Given the description of an element on the screen output the (x, y) to click on. 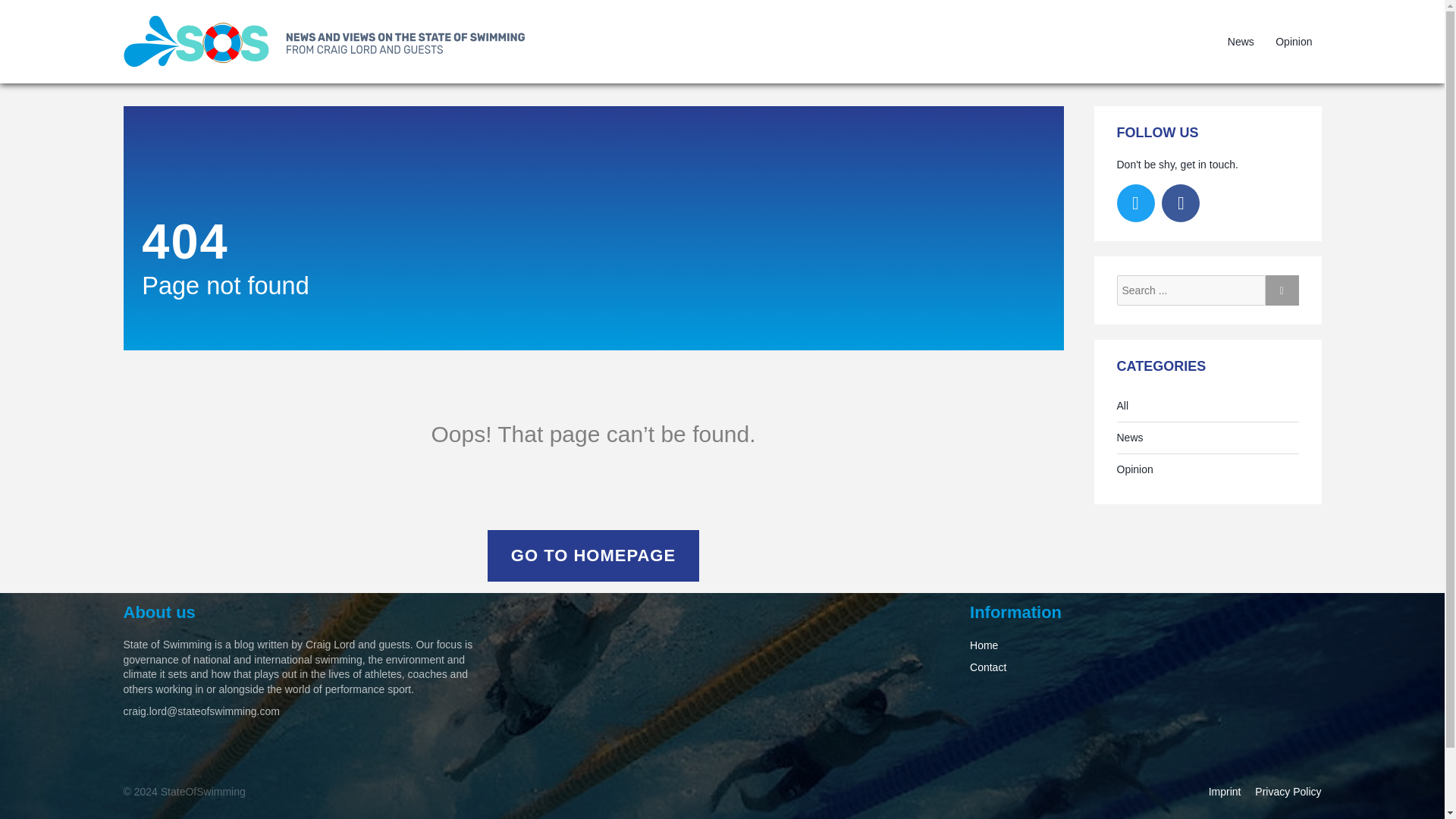
Home (983, 645)
News (1129, 437)
Opinion (1134, 469)
Opinion (1293, 40)
News (1240, 40)
Contact (987, 666)
GO TO HOMEPAGE (592, 555)
Homepage (331, 41)
All (1122, 405)
